Given the description of an element on the screen output the (x, y) to click on. 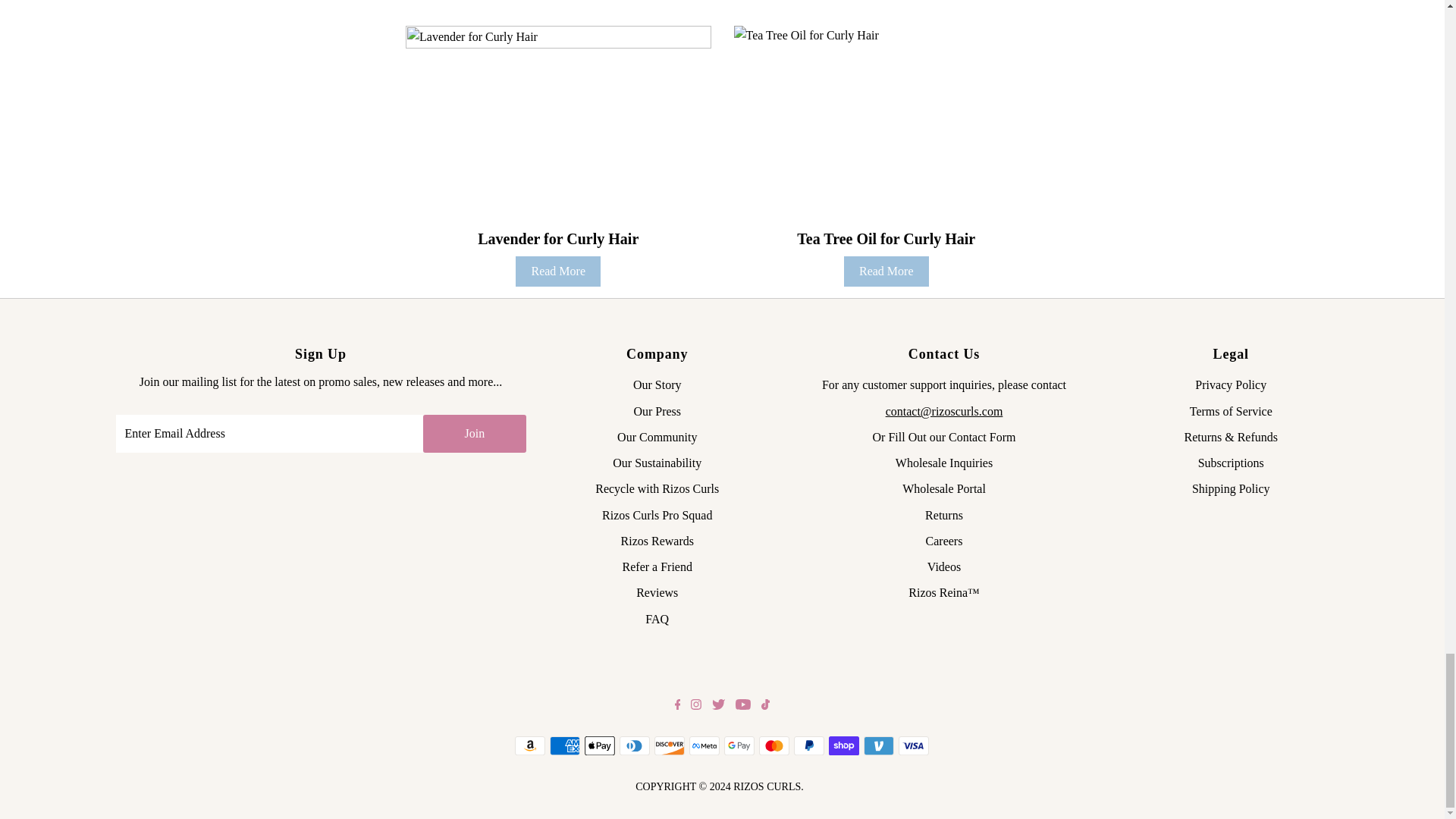
Apple Pay (599, 745)
Meta Pay (703, 745)
Contact Us (981, 436)
Join (474, 433)
American Express (564, 745)
Discover (668, 745)
Mastercard (773, 745)
Tea Tree Oil for Curly Hair (886, 127)
Diners Club (634, 745)
Google Pay (738, 745)
